Given the description of an element on the screen output the (x, y) to click on. 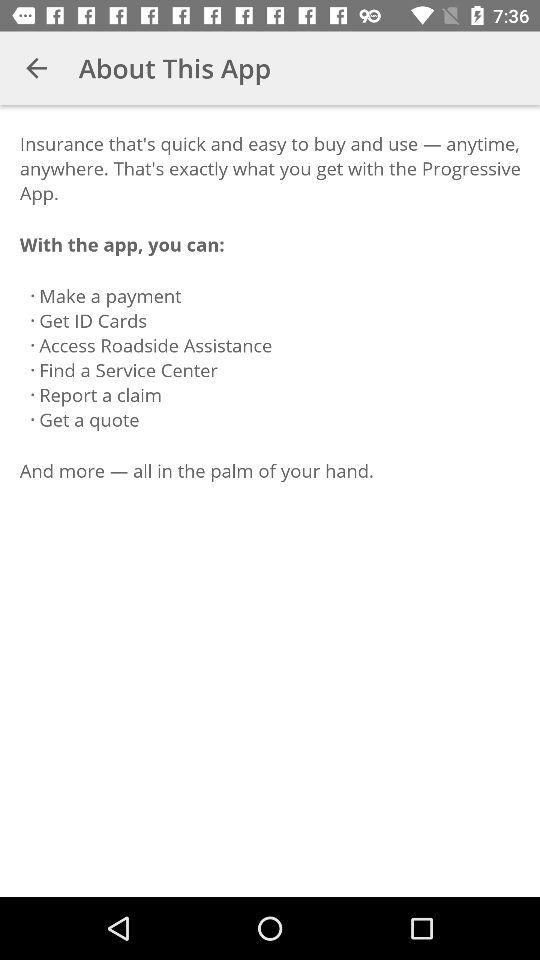
choose item above the insurance that s icon (36, 68)
